Given the description of an element on the screen output the (x, y) to click on. 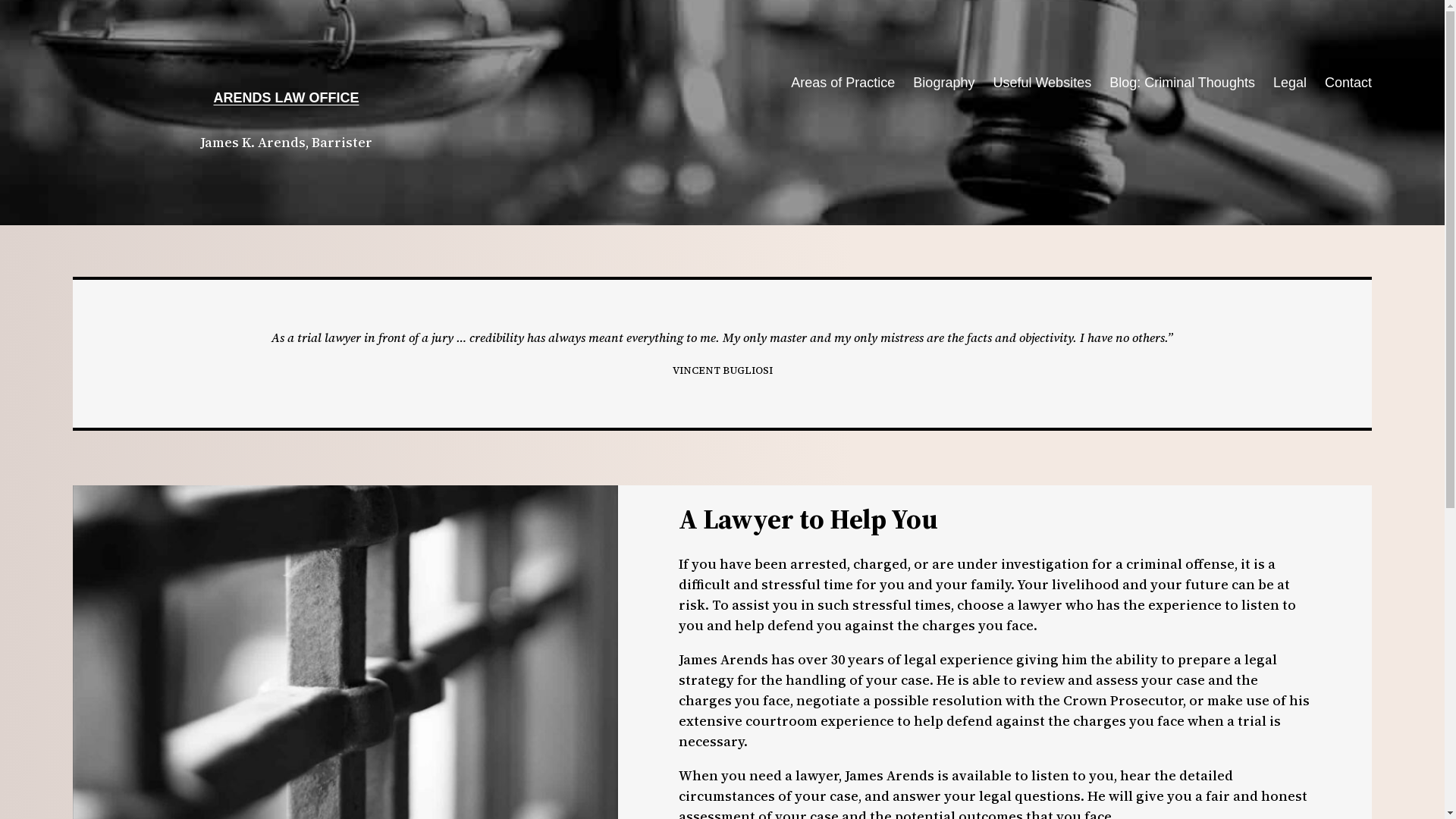
Blog: Criminal Thoughts Element type: text (1182, 82)
ARENDS LAW OFFICE Element type: text (286, 97)
Contact Element type: text (1347, 82)
Biography Element type: text (943, 82)
Legal Element type: text (1289, 82)
Useful Websites Element type: text (1041, 82)
Areas of Practice Element type: text (842, 82)
